Given the description of an element on the screen output the (x, y) to click on. 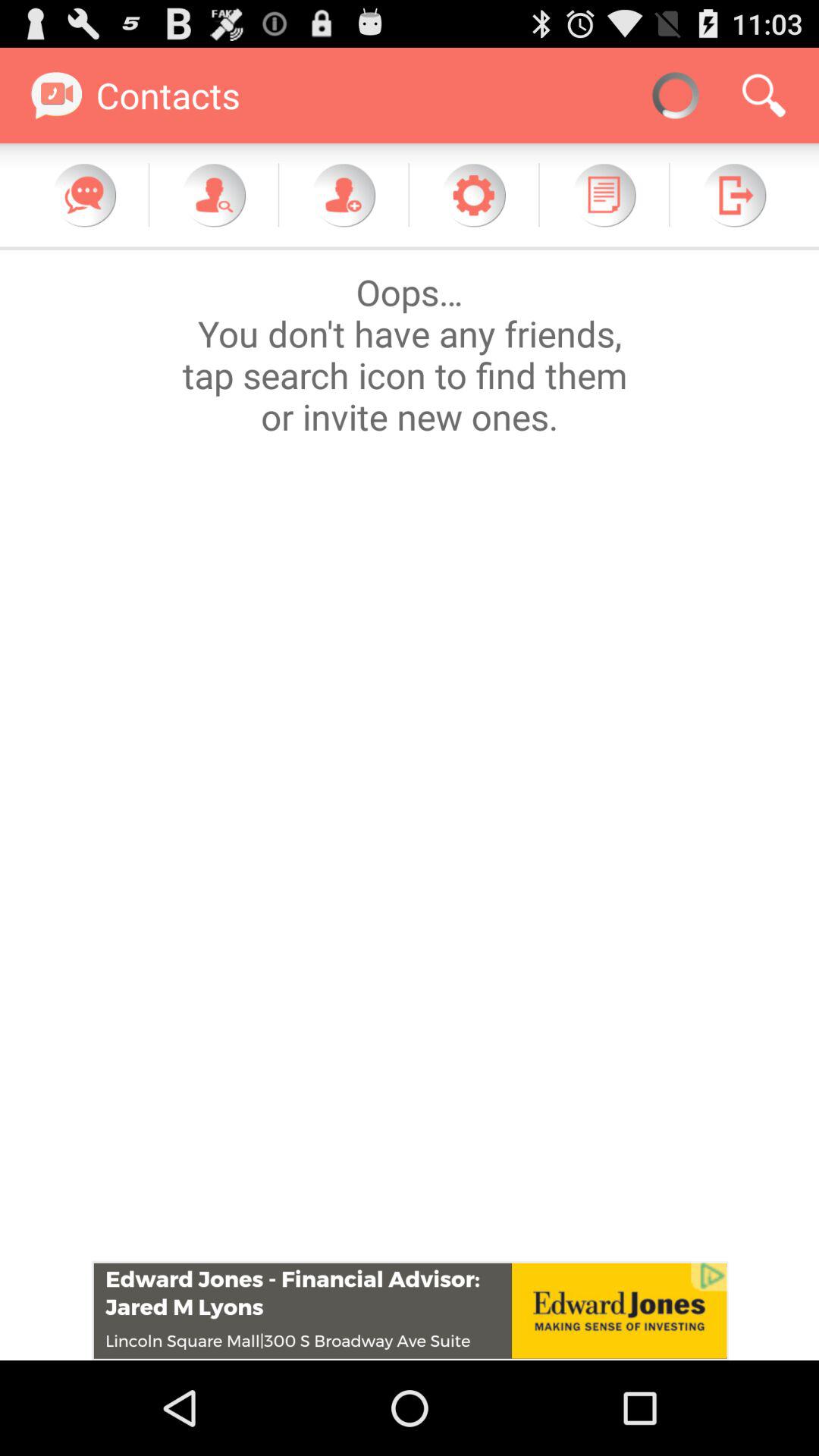
exit contacts (734, 194)
